Given the description of an element on the screen output the (x, y) to click on. 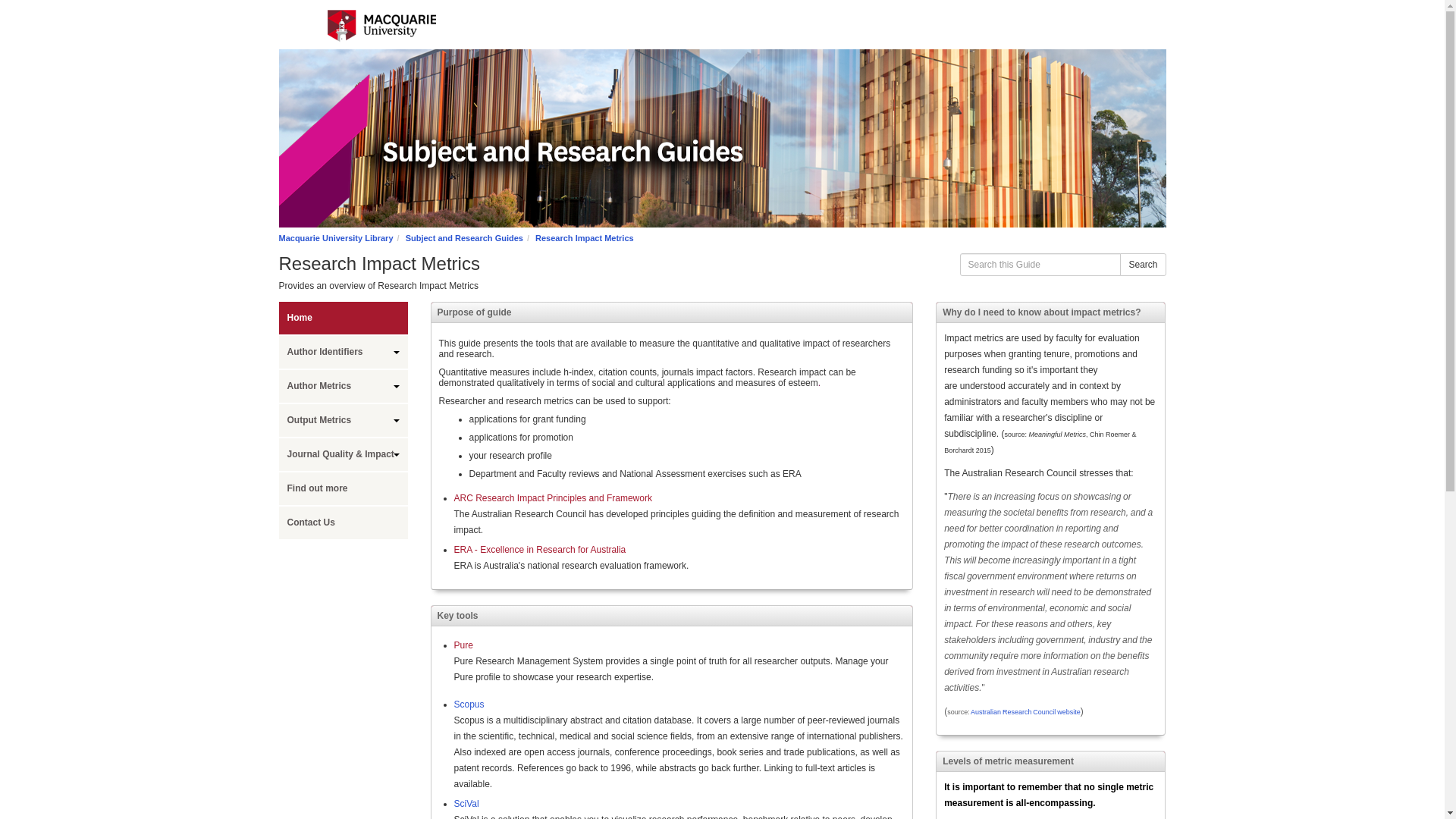
Macquarie University Library (336, 237)
ERA - Excellence in Research for Australia (539, 549)
Contact Us (343, 522)
Australian Research Council website (1025, 711)
ARC Research Impact Principles and Framework (551, 498)
Subject and Research Guides (464, 237)
Pure (461, 644)
Home (343, 318)
Search (1142, 264)
Find out more (343, 488)
Output Metrics (343, 420)
Author Identifiers (343, 351)
SciVal (465, 803)
Research Impact Metrics (584, 237)
Scopus (467, 704)
